Given the description of an element on the screen output the (x, y) to click on. 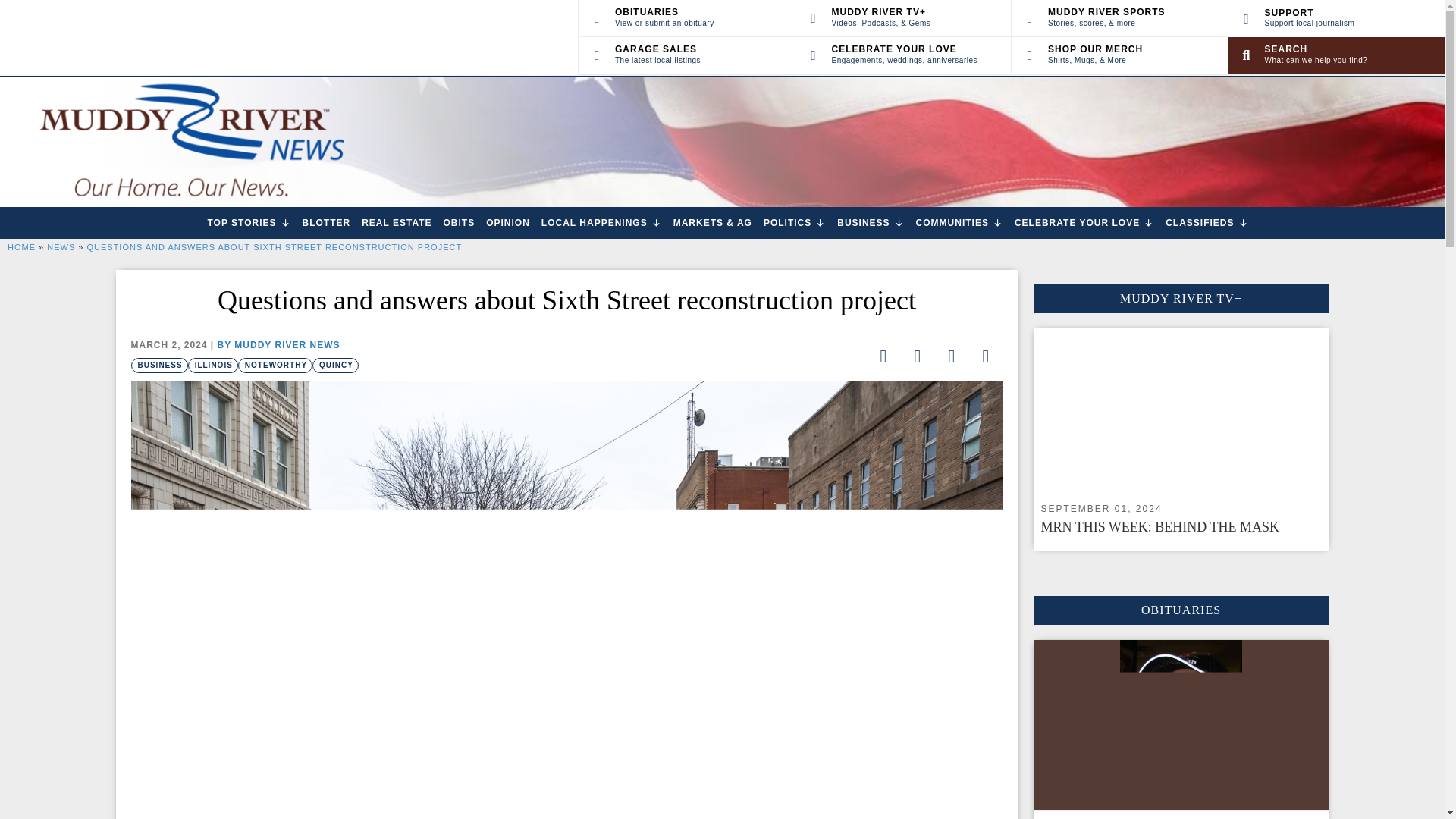
BEHIND THE MASK (1179, 411)
cropped-MRN-final-with-tag.png (902, 54)
6th Street Groundbreaking copy (189, 141)
